Given the description of an element on the screen output the (x, y) to click on. 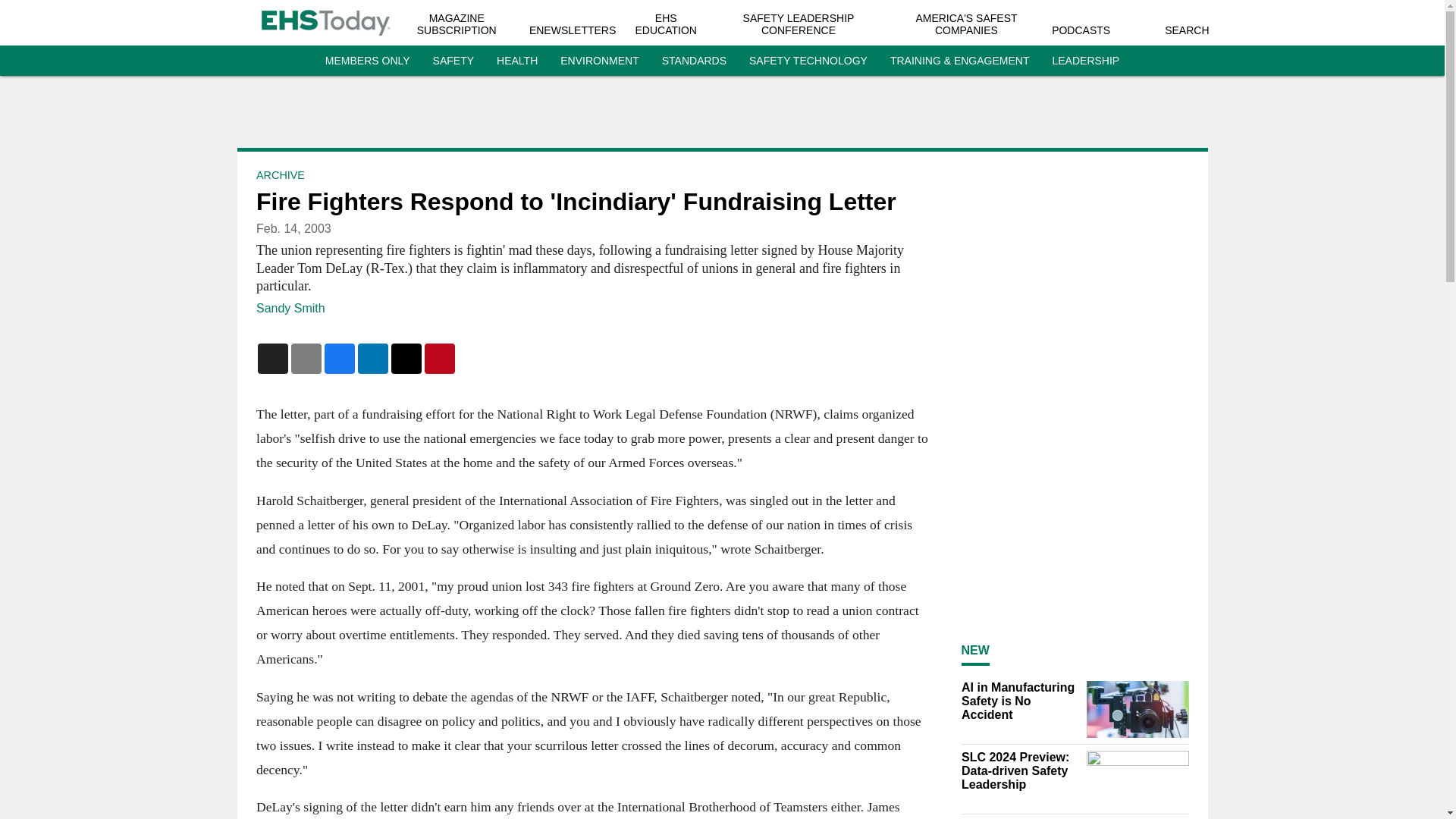
SAFETY TECHNOLOGY (808, 60)
ENVIRONMENT (599, 60)
HEALTH (516, 60)
PODCASTS (1080, 30)
AMERICA'S SAFEST COMPANIES (965, 24)
MAGAZINE SUBSCRIPTION (456, 24)
MEMBERS ONLY (367, 60)
SAFETY (453, 60)
Sandy Smith (290, 308)
EHS EDUCATION (665, 24)
SEARCH (1186, 30)
LEADERSHIP (1085, 60)
ENEWSLETTERS (572, 30)
AI in Manufacturing Safety is No Accident (1019, 700)
STANDARDS (694, 60)
